Given the description of an element on the screen output the (x, y) to click on. 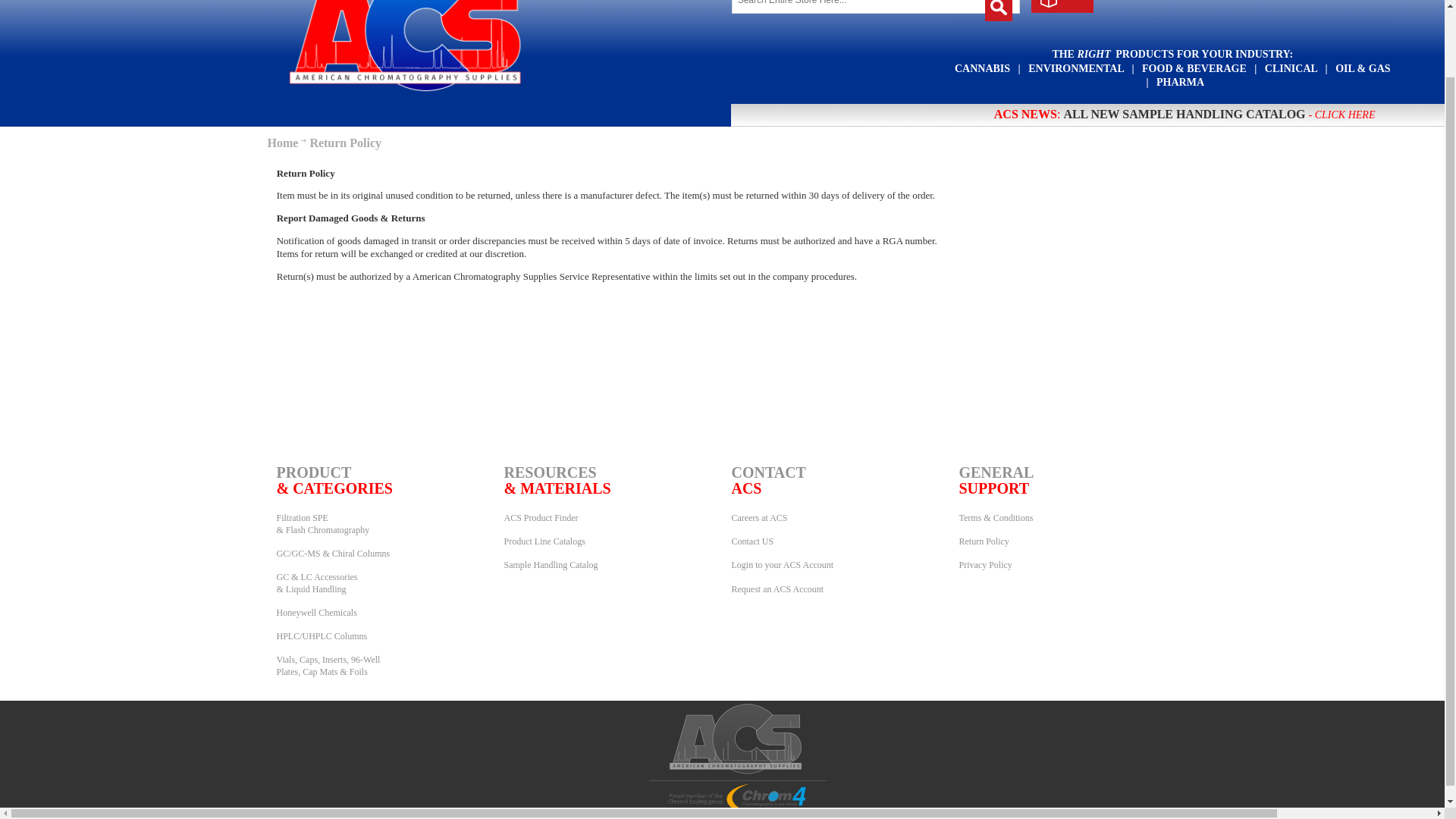
ENVIRONMENTAL (1076, 68)
CANNABIS (984, 68)
CLINICAL (1291, 68)
Check the items in your Cart (1061, 6)
  0 (1057, 6)
Search (998, 10)
PHARMA (1180, 81)
